Given the description of an element on the screen output the (x, y) to click on. 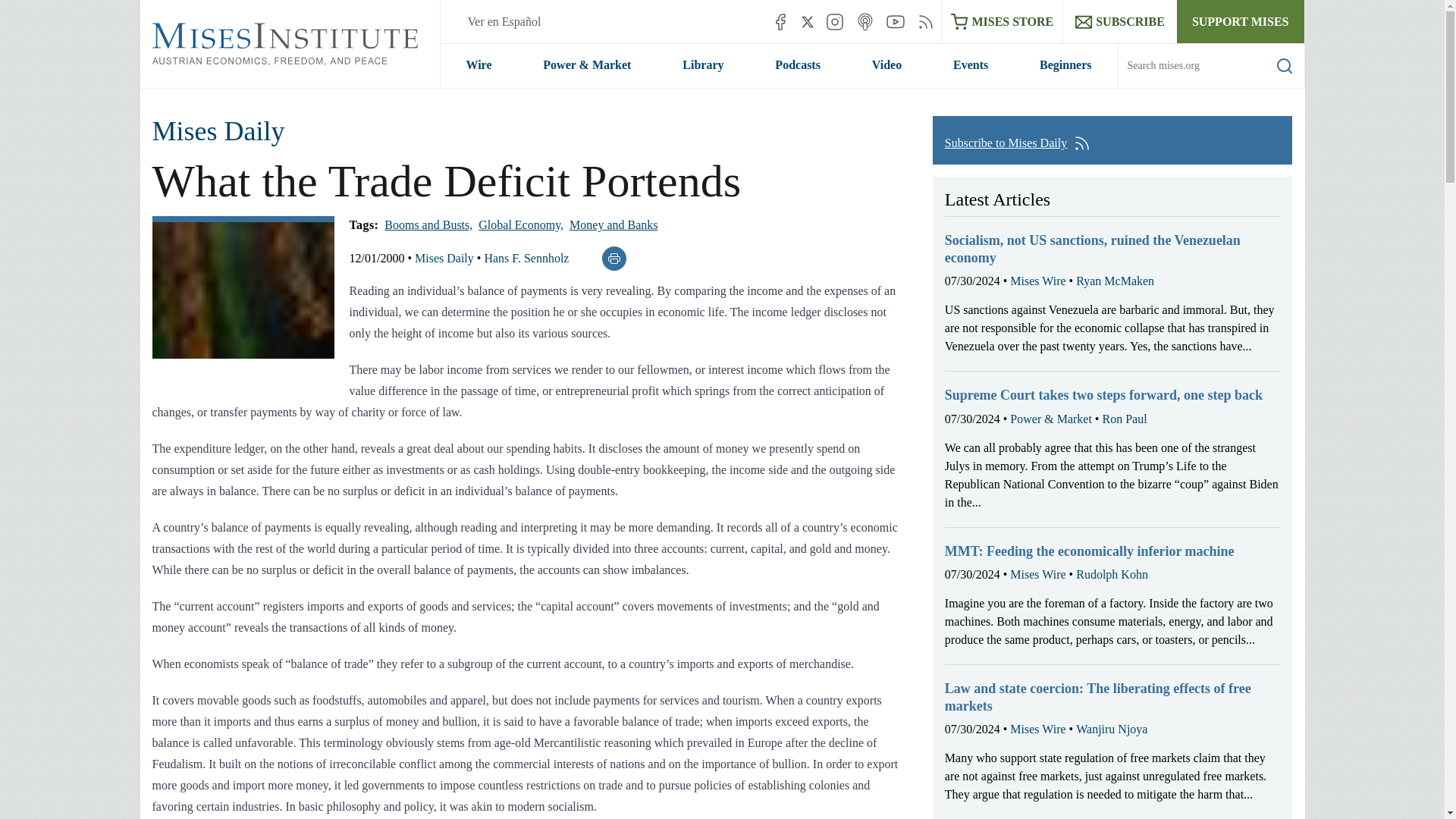
Wire (477, 65)
Mises RSS feed (925, 21)
Mises itunes (865, 21)
Mises Facebook (780, 21)
Beginners (1064, 65)
SUBSCRIBE (1119, 21)
SUPPORT MISES (1240, 21)
Mises Instagram (834, 21)
Events (970, 65)
Library (702, 65)
MISES STORE (1002, 21)
Video (886, 65)
Mises Youtube (895, 21)
Podcasts (797, 65)
